Given the description of an element on the screen output the (x, y) to click on. 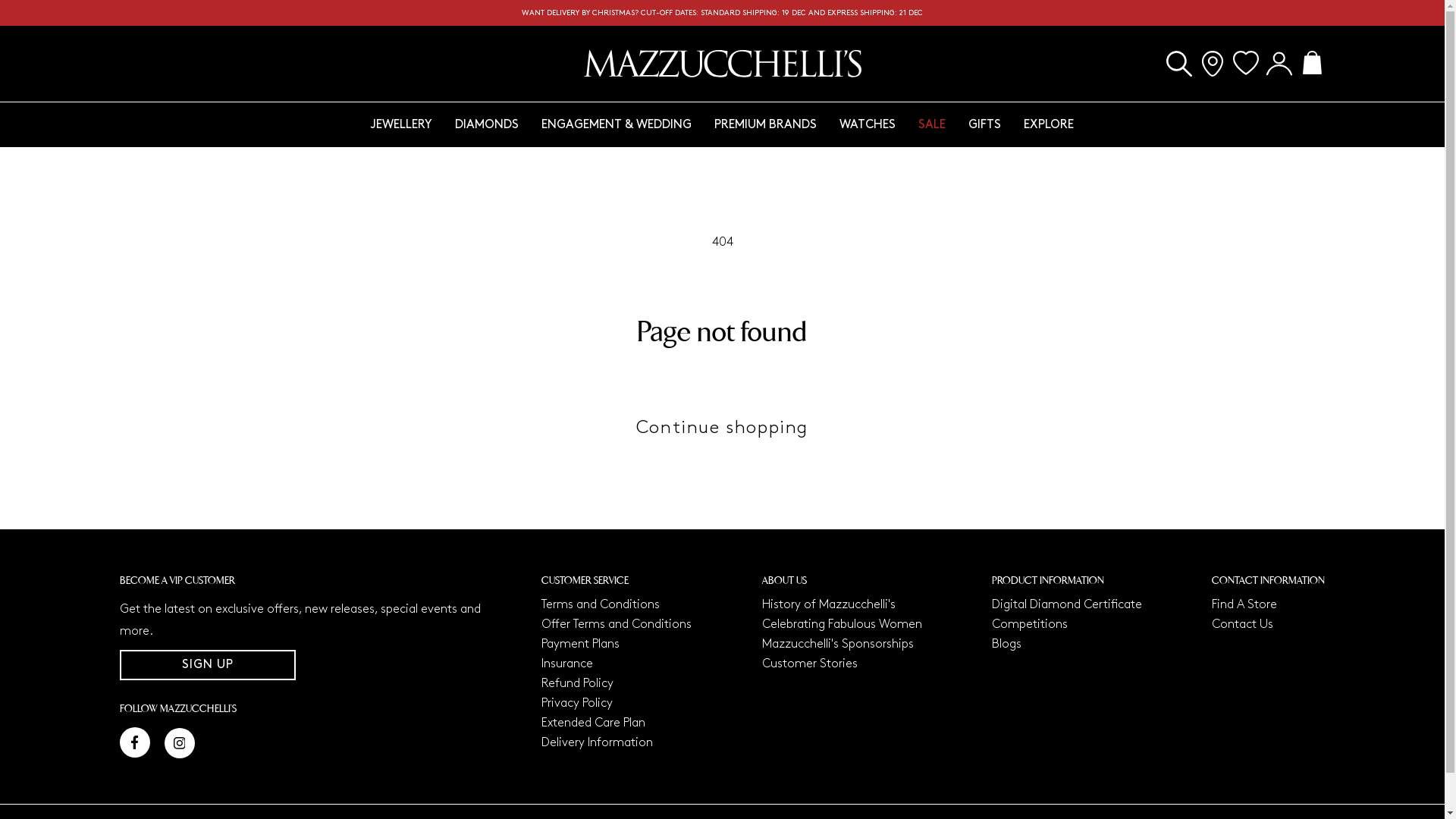
Extended Care Plan Element type: text (593, 722)
ENGAGEMENT & WEDDING Element type: text (616, 123)
Customer Stories Element type: text (809, 663)
Offer Terms and Conditions Element type: text (616, 624)
Payment Plans Element type: text (580, 643)
Competitions Element type: text (1029, 624)
Refund Policy Element type: text (577, 683)
Contact Us Element type: text (1242, 624)
Terms and Conditions Element type: text (600, 604)
DIAMONDS Element type: text (486, 123)
Privacy Policy Element type: text (576, 703)
Blogs Element type: text (1006, 643)
JEWELLERY Element type: text (401, 123)
Digital Diamond Certificate Element type: text (1066, 604)
History of Mazzucchelli's Element type: text (828, 604)
WATCHES Element type: text (867, 123)
SALE Element type: text (931, 123)
PREMIUM BRANDS Element type: text (765, 123)
Find A Store Element type: text (1244, 604)
GIFTS Element type: text (984, 123)
Follow us on Facebook Element type: text (134, 742)
Continue shopping Element type: text (721, 427)
Celebrating Fabulous Women Element type: text (842, 624)
Insurance Element type: text (567, 663)
SIGN UP Element type: text (207, 664)
Mazzucchelli's Sponsorships Element type: text (837, 643)
Delivery Information Element type: text (596, 742)
EXPLORE Element type: text (1048, 123)
Follow us on Instagram Element type: text (178, 743)
